Given the description of an element on the screen output the (x, y) to click on. 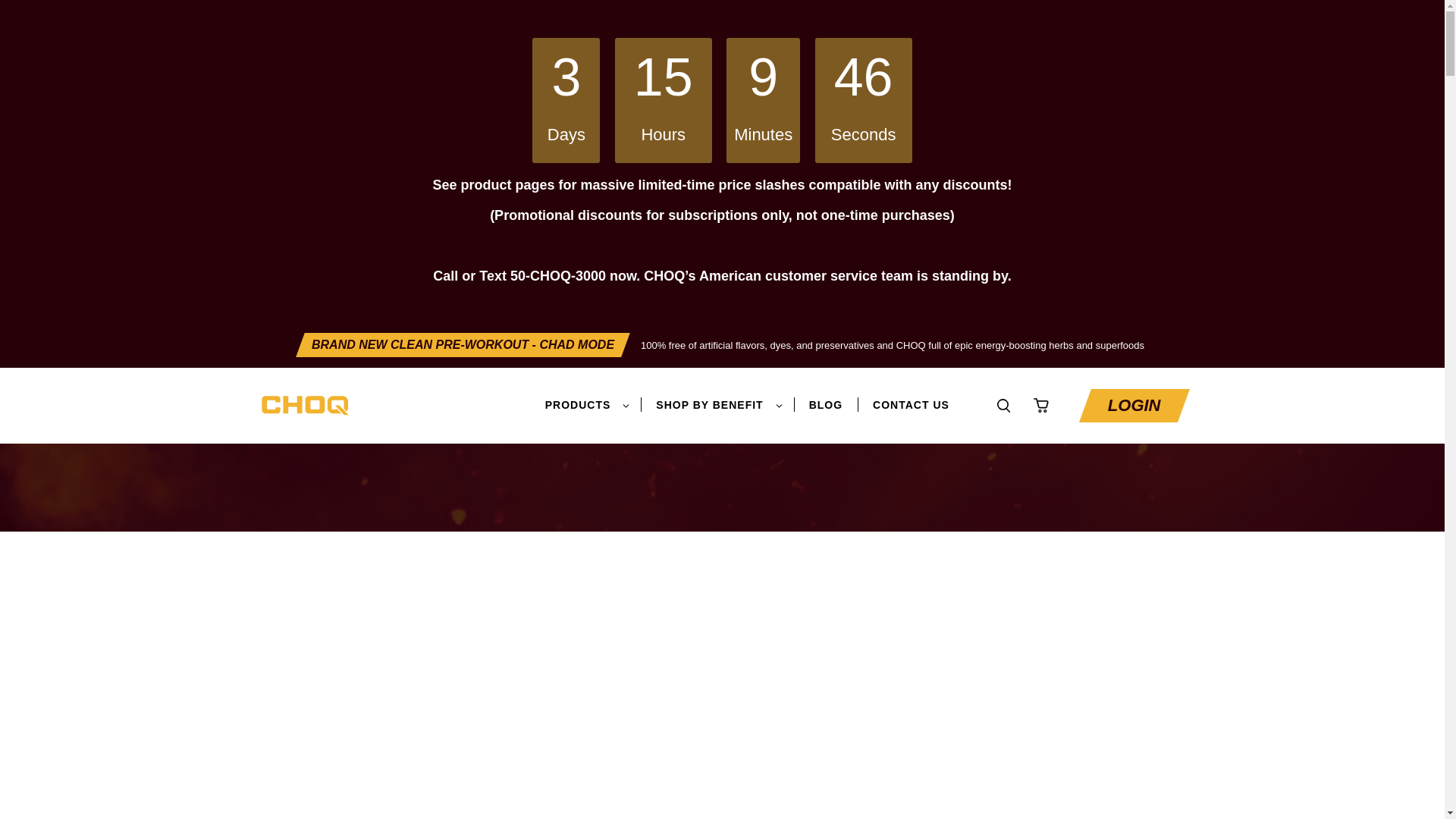
BLOG (826, 405)
CONTACT US (910, 405)
Breathwork: Why You Desperately Need it in Your Life (703, 437)
Homepage (301, 437)
LOGIN (1133, 405)
